Given the description of an element on the screen output the (x, y) to click on. 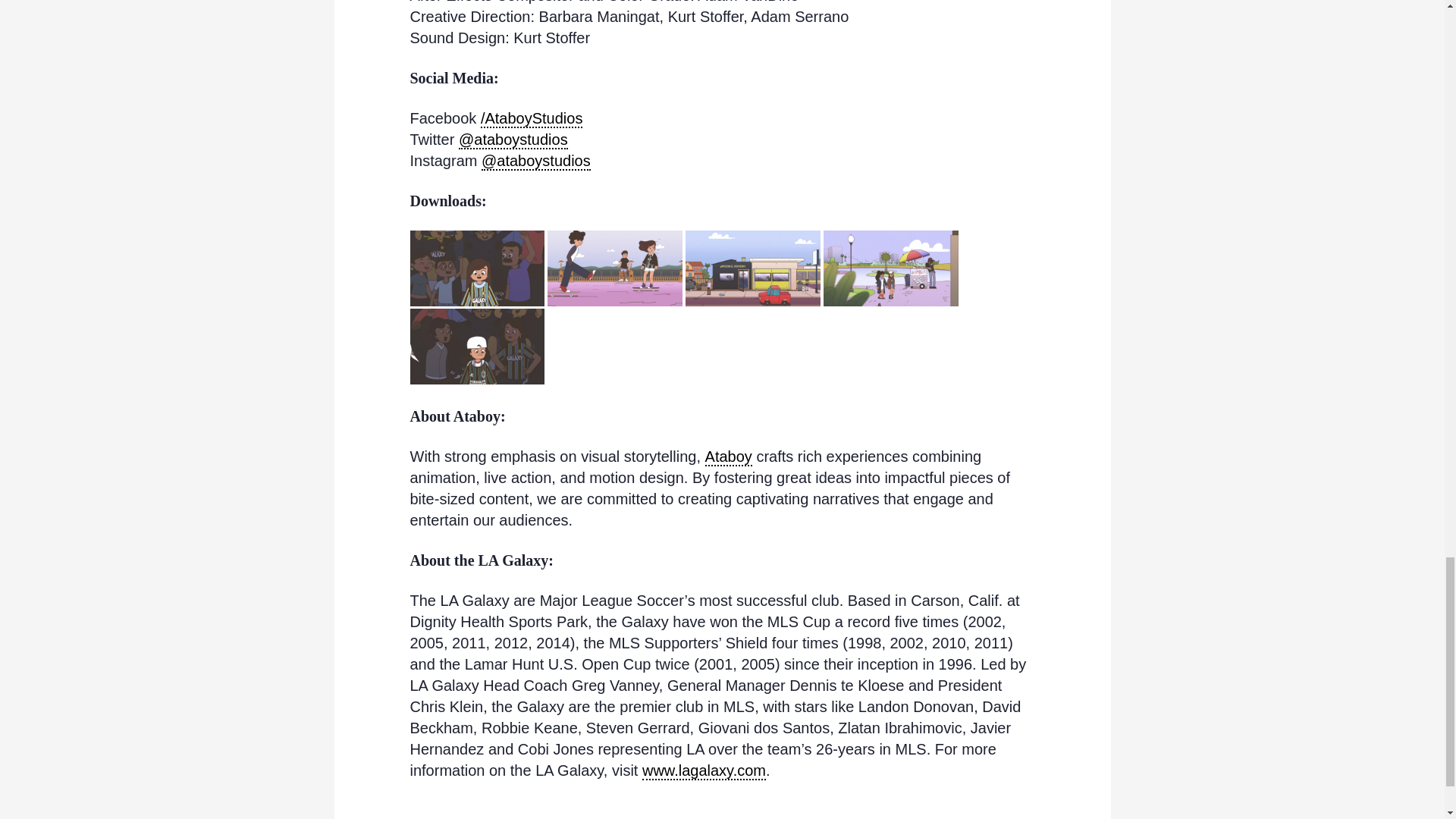
Ataboy (728, 456)
Download File (476, 268)
Download File (753, 268)
Download File (891, 268)
Download File (614, 268)
www.lagalaxy.com (703, 771)
Download File (476, 346)
